Given the description of an element on the screen output the (x, y) to click on. 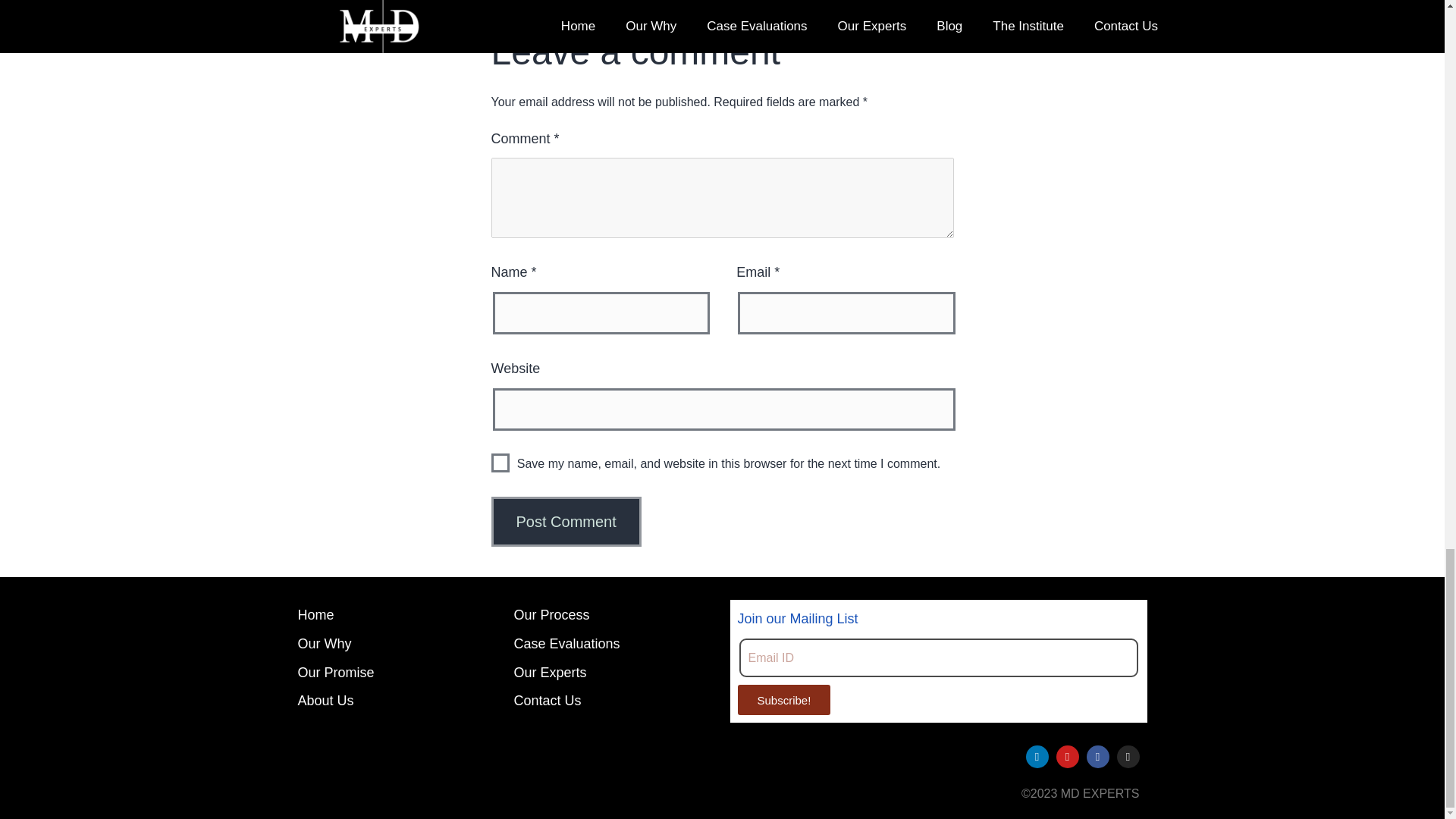
Post Comment (567, 521)
Post Comment (567, 521)
yes (500, 462)
